Given the description of an element on the screen output the (x, y) to click on. 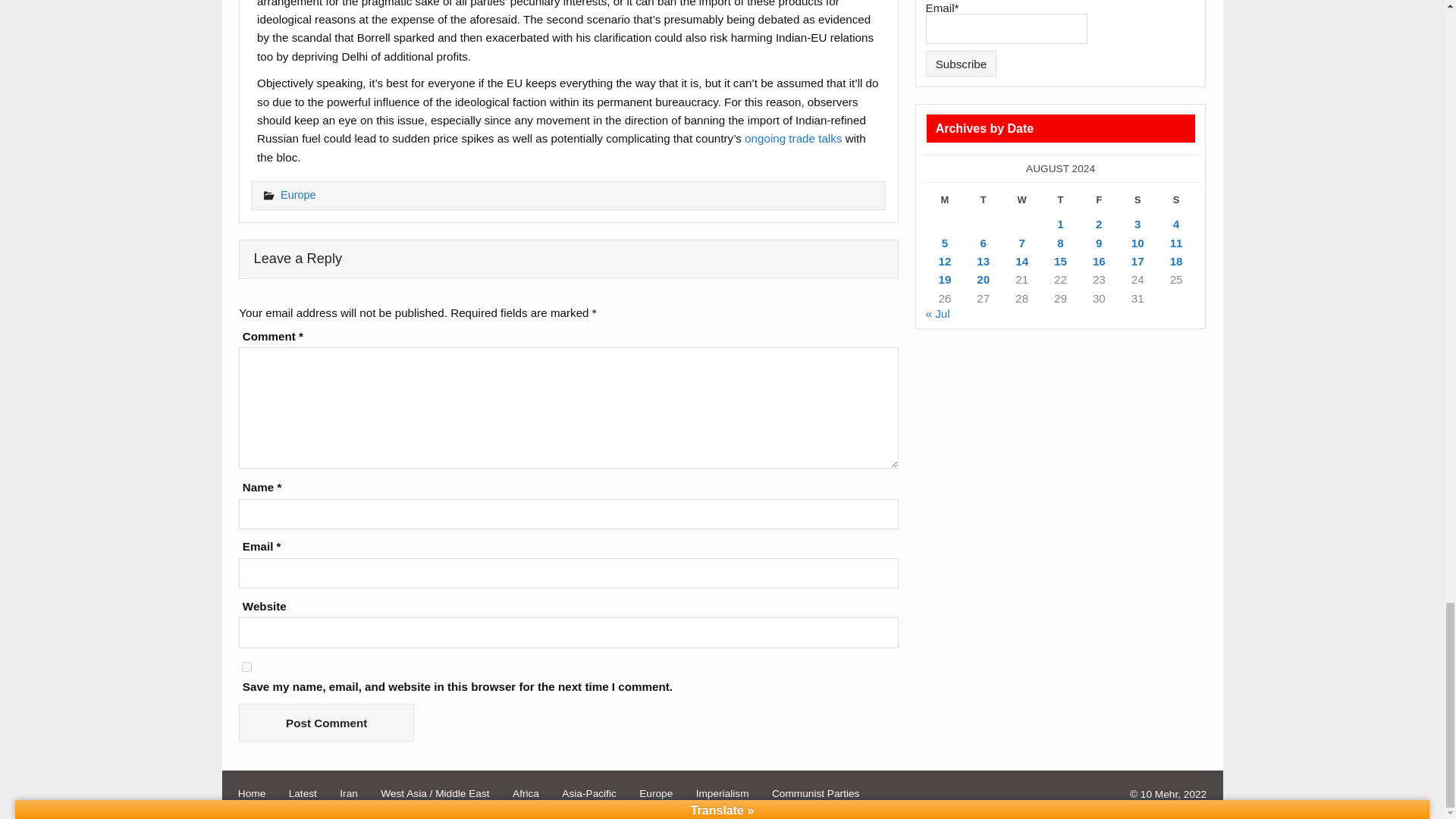
Subscribe (961, 63)
Europe (298, 194)
Tuesday (983, 202)
Sunday (1176, 202)
Saturday (1137, 202)
yes (246, 666)
Wednesday (1022, 202)
Post Comment (325, 722)
Monday (944, 202)
Post Comment (325, 722)
